Given the description of an element on the screen output the (x, y) to click on. 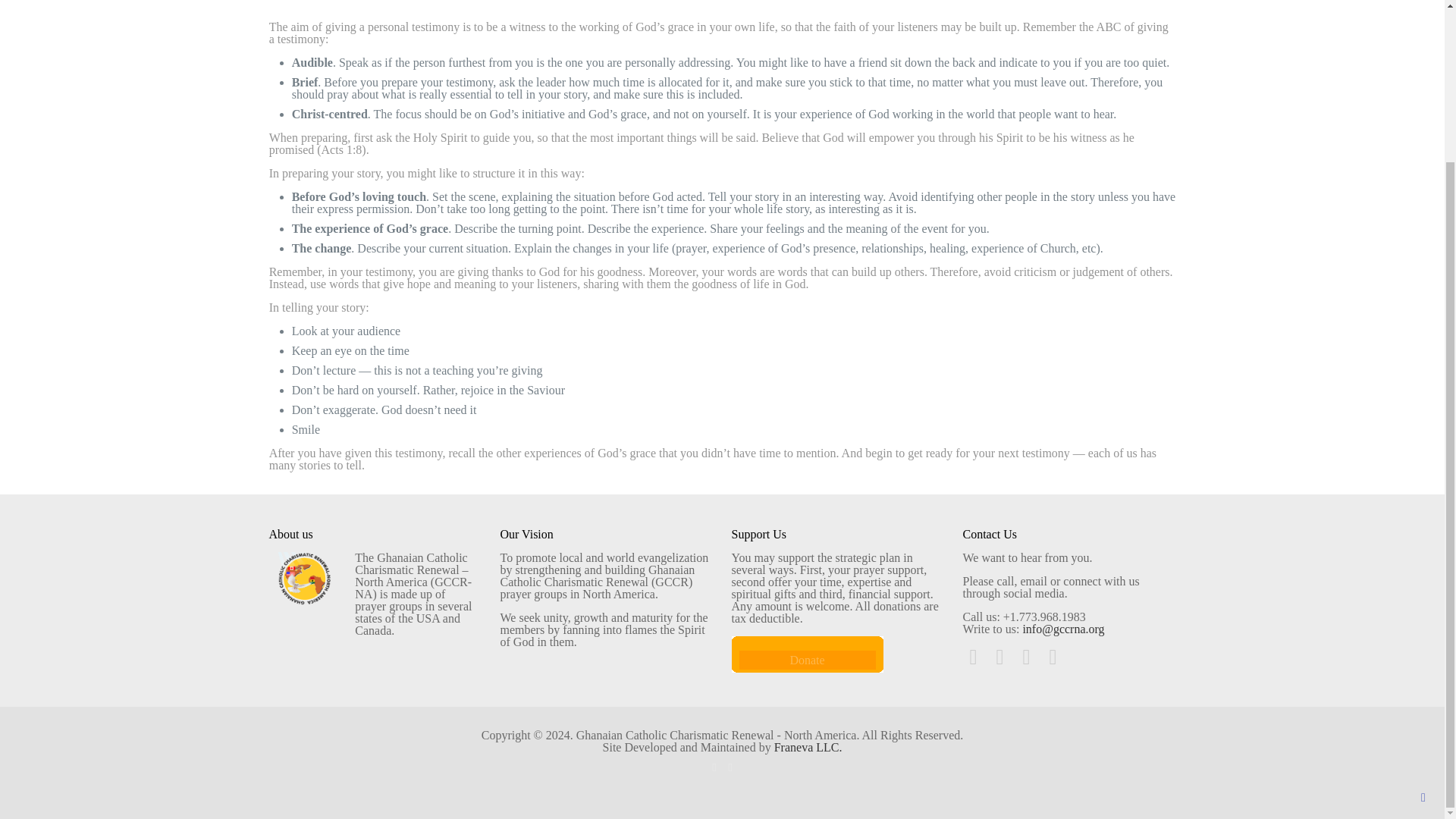
Facebook (713, 767)
YouTube (730, 767)
Donate (807, 659)
